Given the description of an element on the screen output the (x, y) to click on. 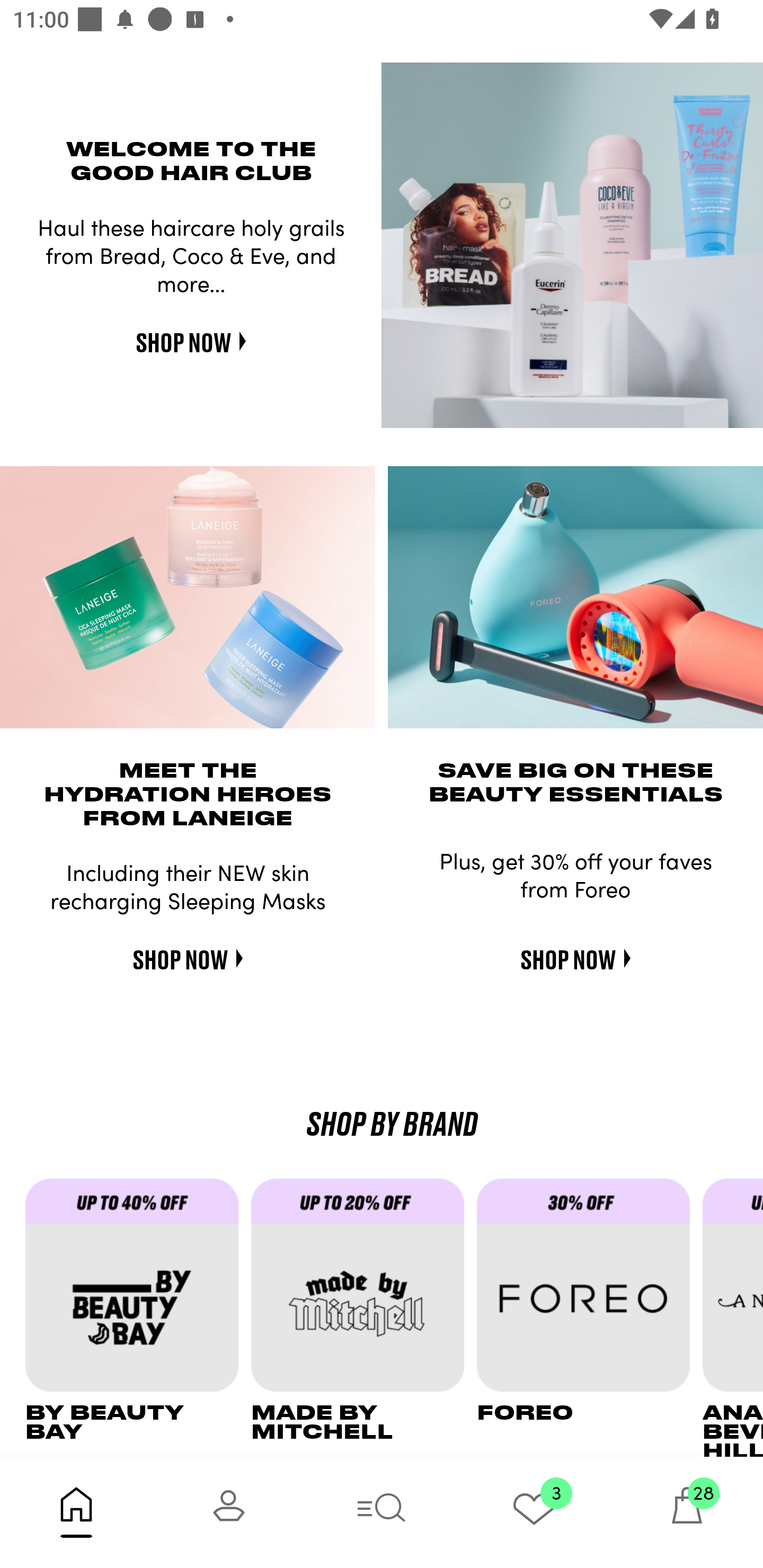
BY BEAUTY BAY (138, 1317)
MADE BY MITCHELL (363, 1317)
FOREO (589, 1317)
3 (533, 1512)
28 (686, 1512)
